Given the description of an element on the screen output the (x, y) to click on. 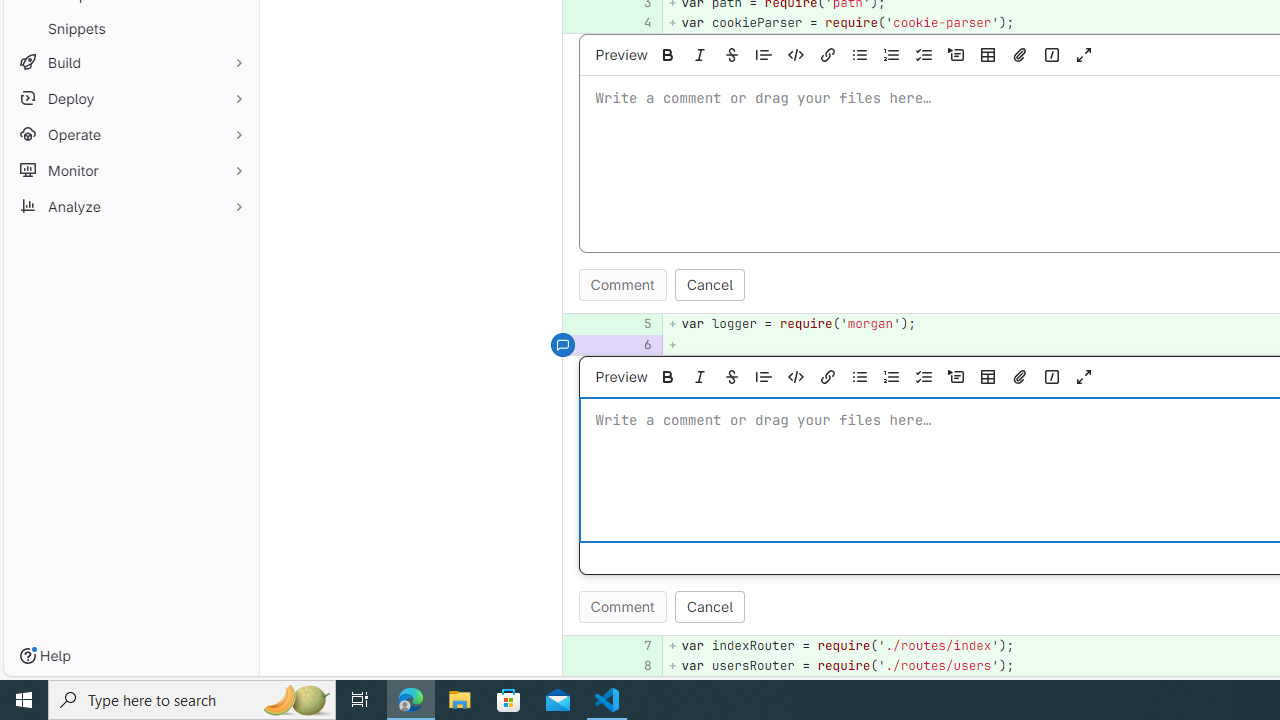
Insert code (795, 376)
Add bold text (Ctrl+B) (667, 376)
Add a table (987, 376)
Operate (130, 134)
Add a numbered list (891, 376)
7 (637, 645)
Go full screen (1083, 376)
Snippets (130, 28)
Add a link (Ctrl+K) (827, 376)
Snippets (130, 28)
7 (633, 645)
5 (633, 323)
Preview (621, 376)
Cancel (710, 605)
